Given the description of an element on the screen output the (x, y) to click on. 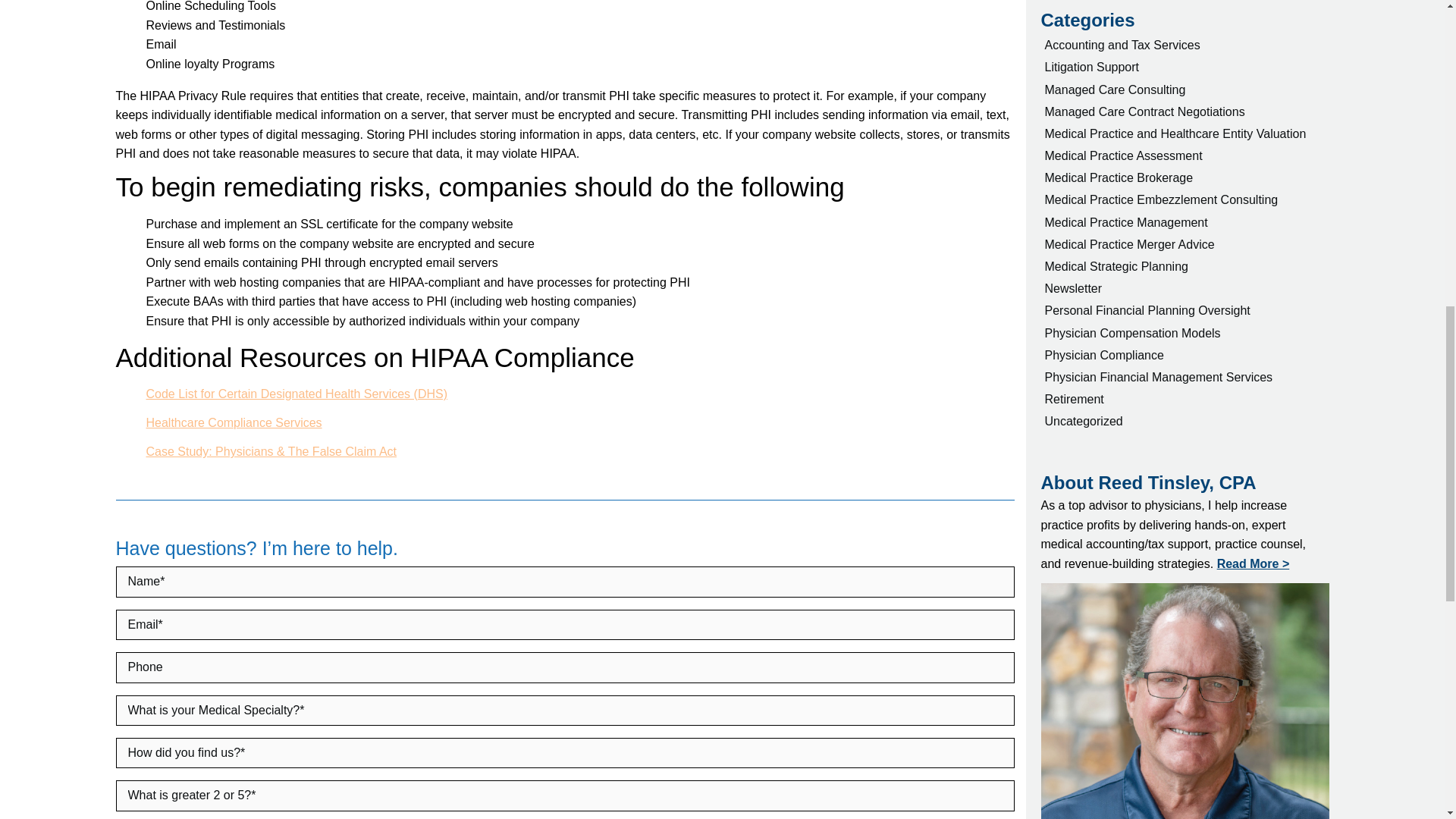
Healthcare Compliance Services (233, 422)
Managed Care Consulting (1184, 89)
Litigation Support (1184, 66)
Medical Practice and Healthcare Entity Valuation (1184, 133)
Managed Care Contract Negotiations (1184, 111)
Accounting and Tax Services (1184, 45)
